Given the description of an element on the screen output the (x, y) to click on. 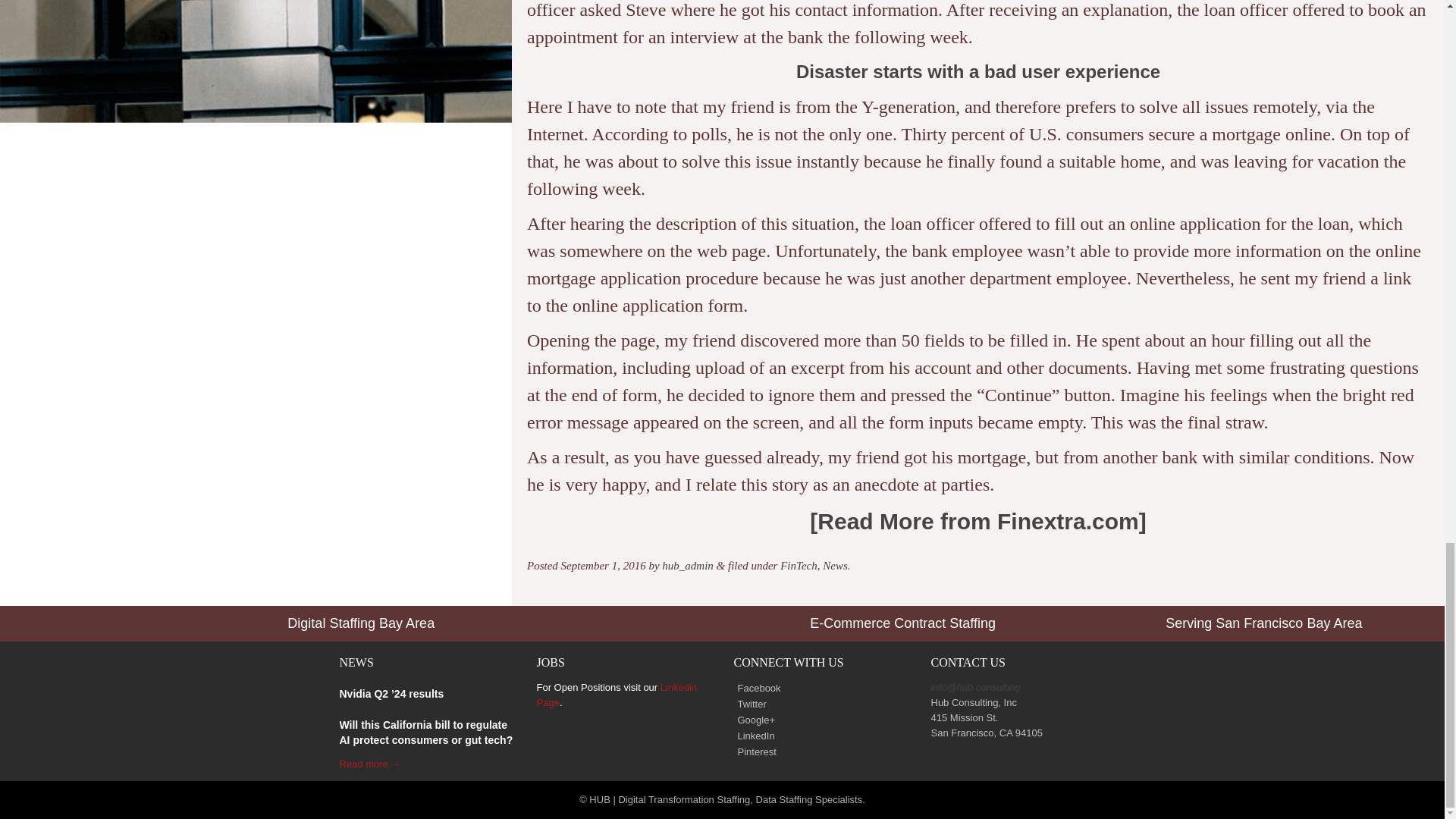
Linkedin Page (617, 694)
News (834, 565)
Twitter (750, 703)
Read More from Finextra.com (977, 520)
Facebook (756, 688)
LinkedIn (753, 735)
Pinterest (754, 752)
FinTech (798, 565)
